Given the description of an element on the screen output the (x, y) to click on. 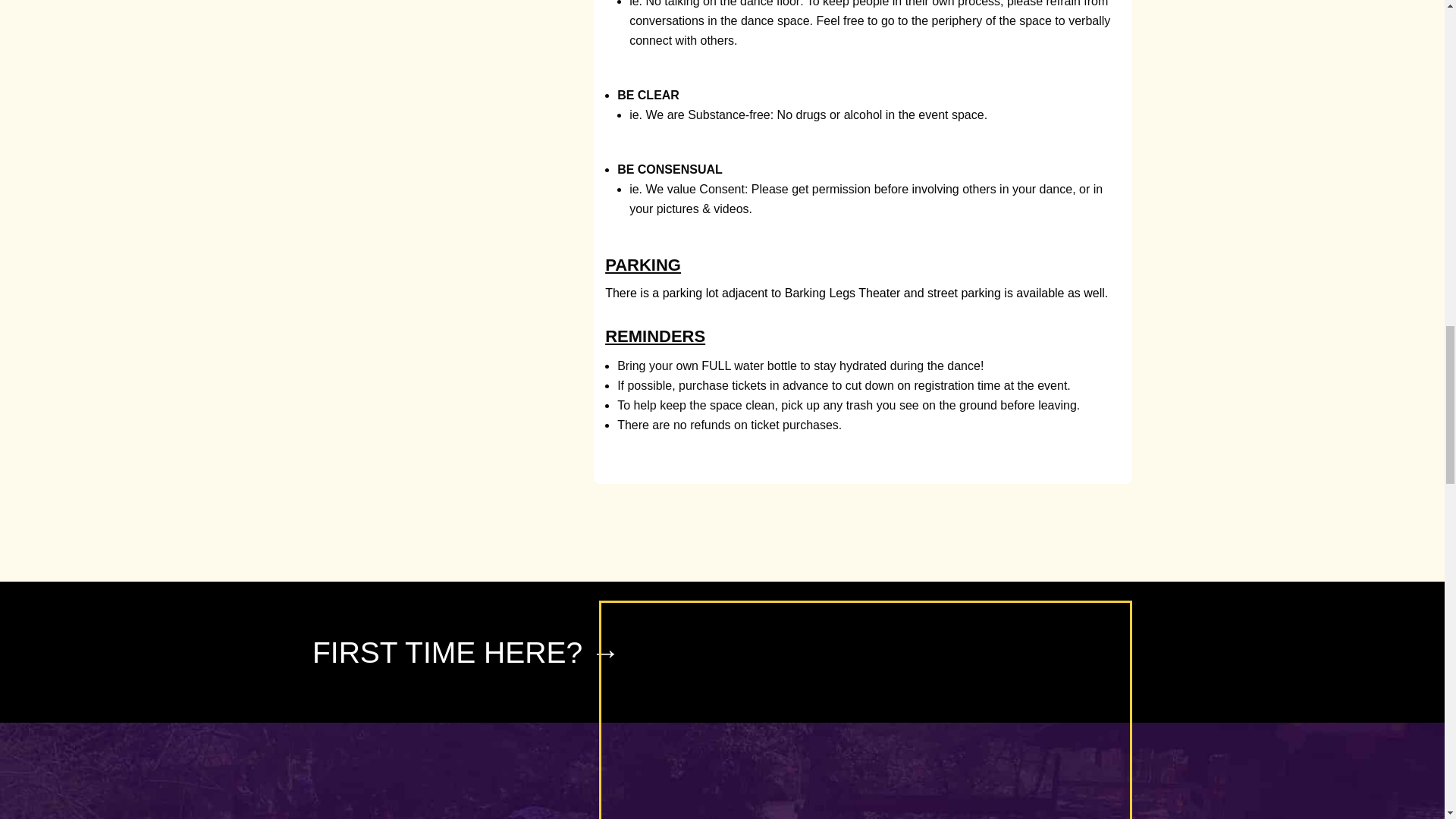
The Sol Dance Experience (865, 710)
